Given the description of an element on the screen output the (x, y) to click on. 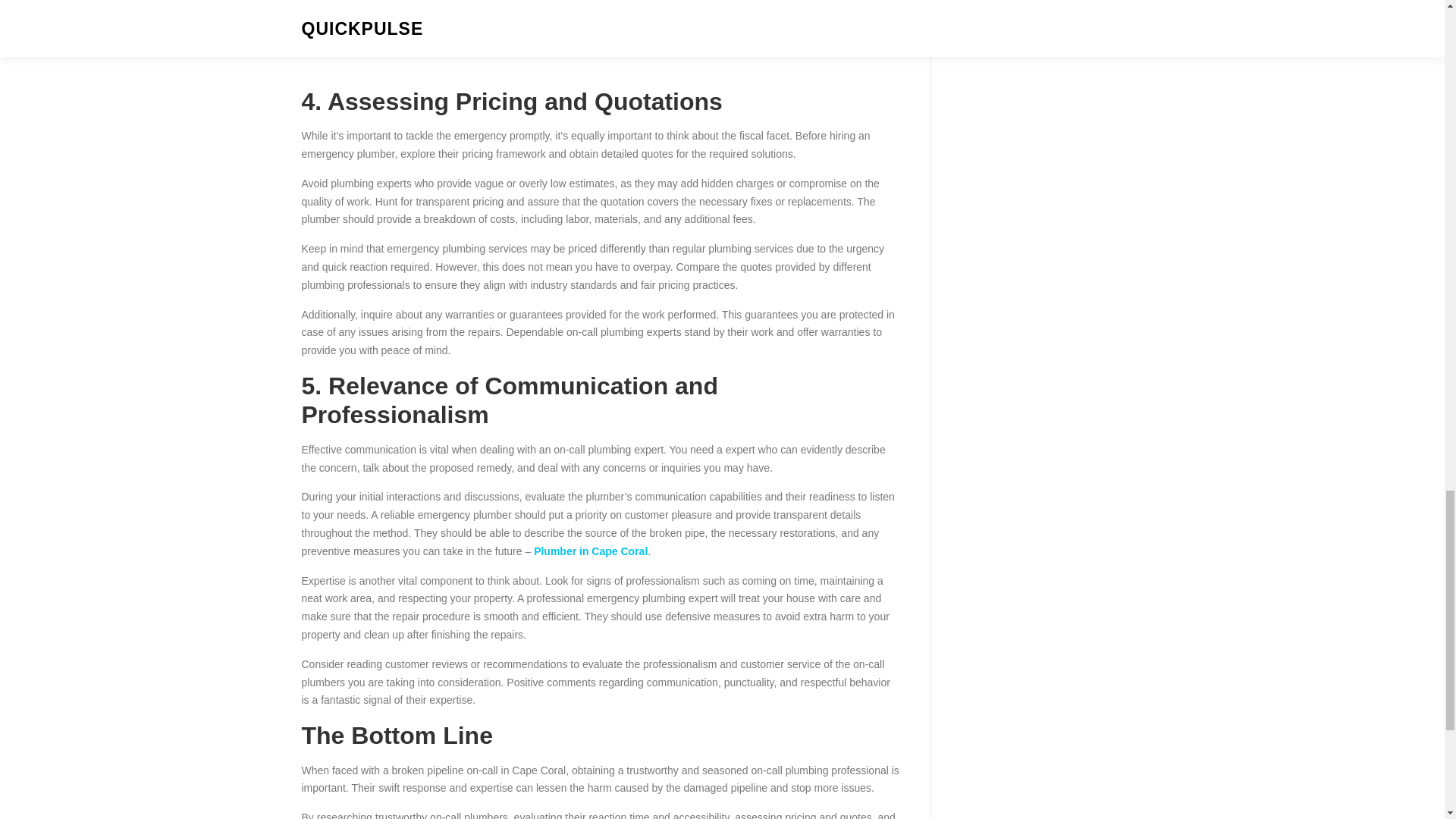
Plumber in Cape Coral (590, 551)
